Given the description of an element on the screen output the (x, y) to click on. 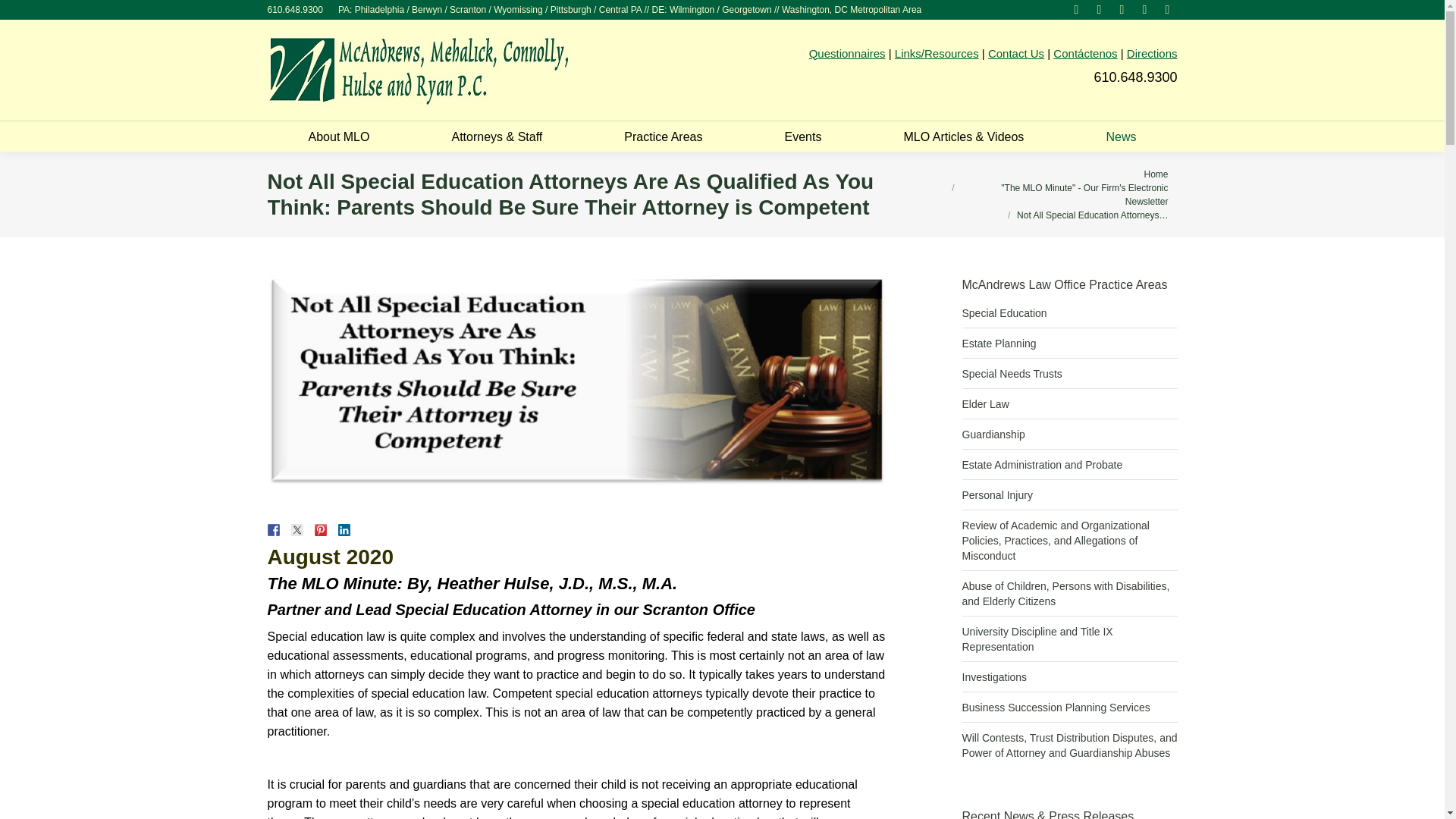
Facebook (1098, 9)
Questionnaires (847, 52)
Directions (1151, 52)
Linkedin (1121, 9)
YouTube (1144, 9)
YouTube (1144, 9)
Contact Us (1015, 52)
Pinterest (1075, 9)
Linkedin (1121, 9)
Facebook (1098, 9)
